Given the description of an element on the screen output the (x, y) to click on. 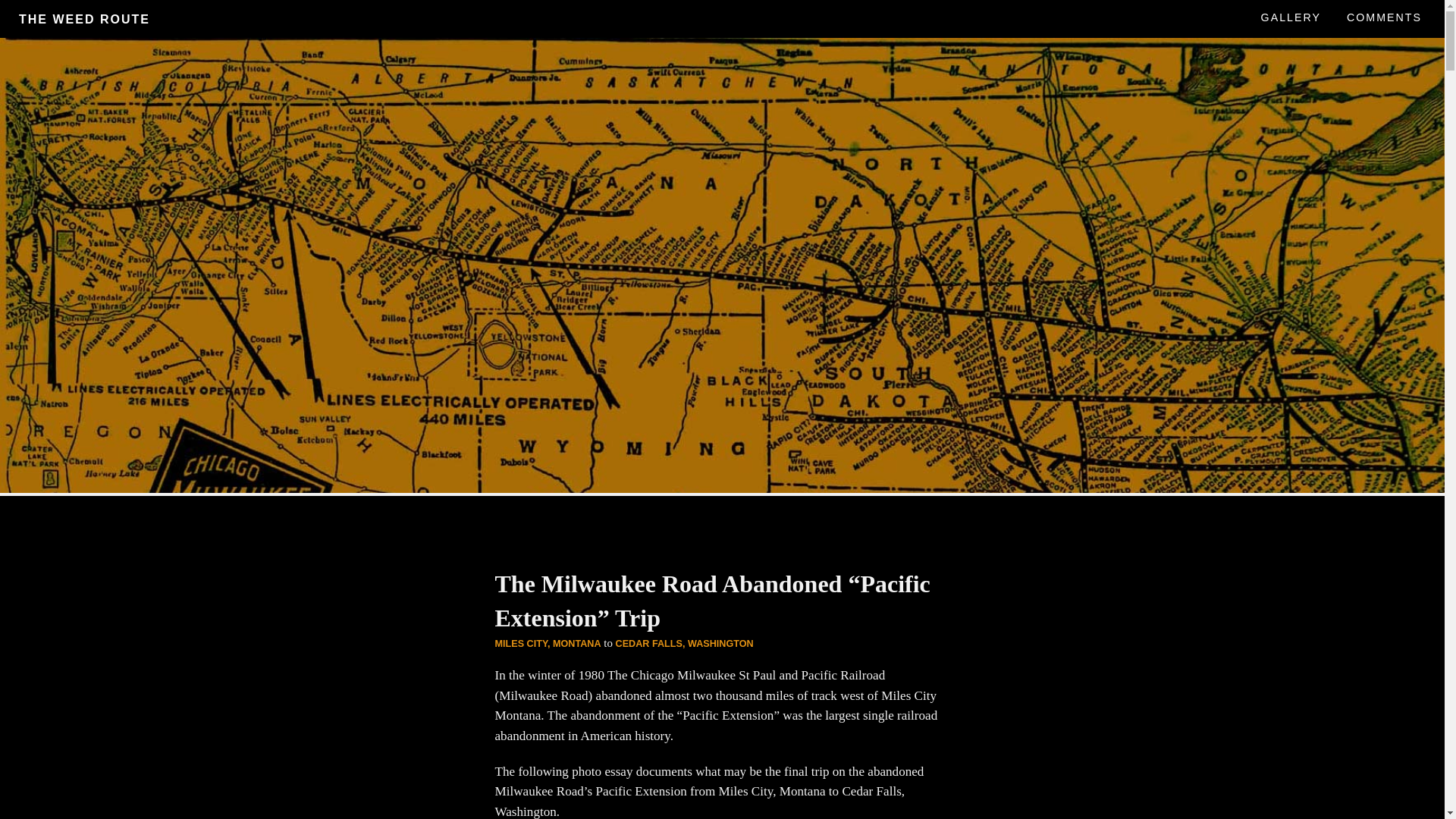
THE WEED ROUTE (84, 19)
GALLERY (1290, 17)
COMMENTS (1384, 17)
